Given the description of an element on the screen output the (x, y) to click on. 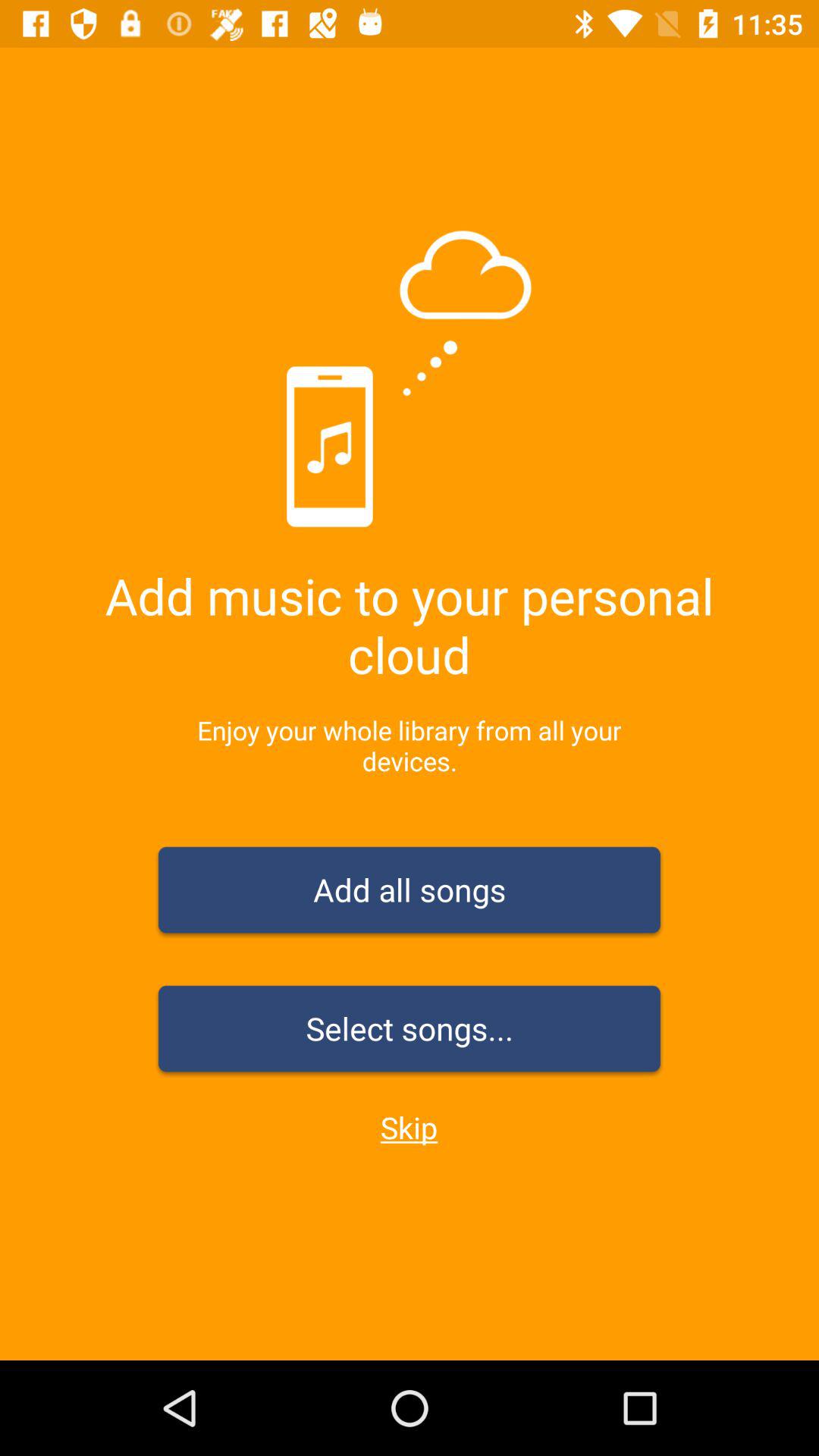
open the item below enjoy your whole (409, 892)
